Given the description of an element on the screen output the (x, y) to click on. 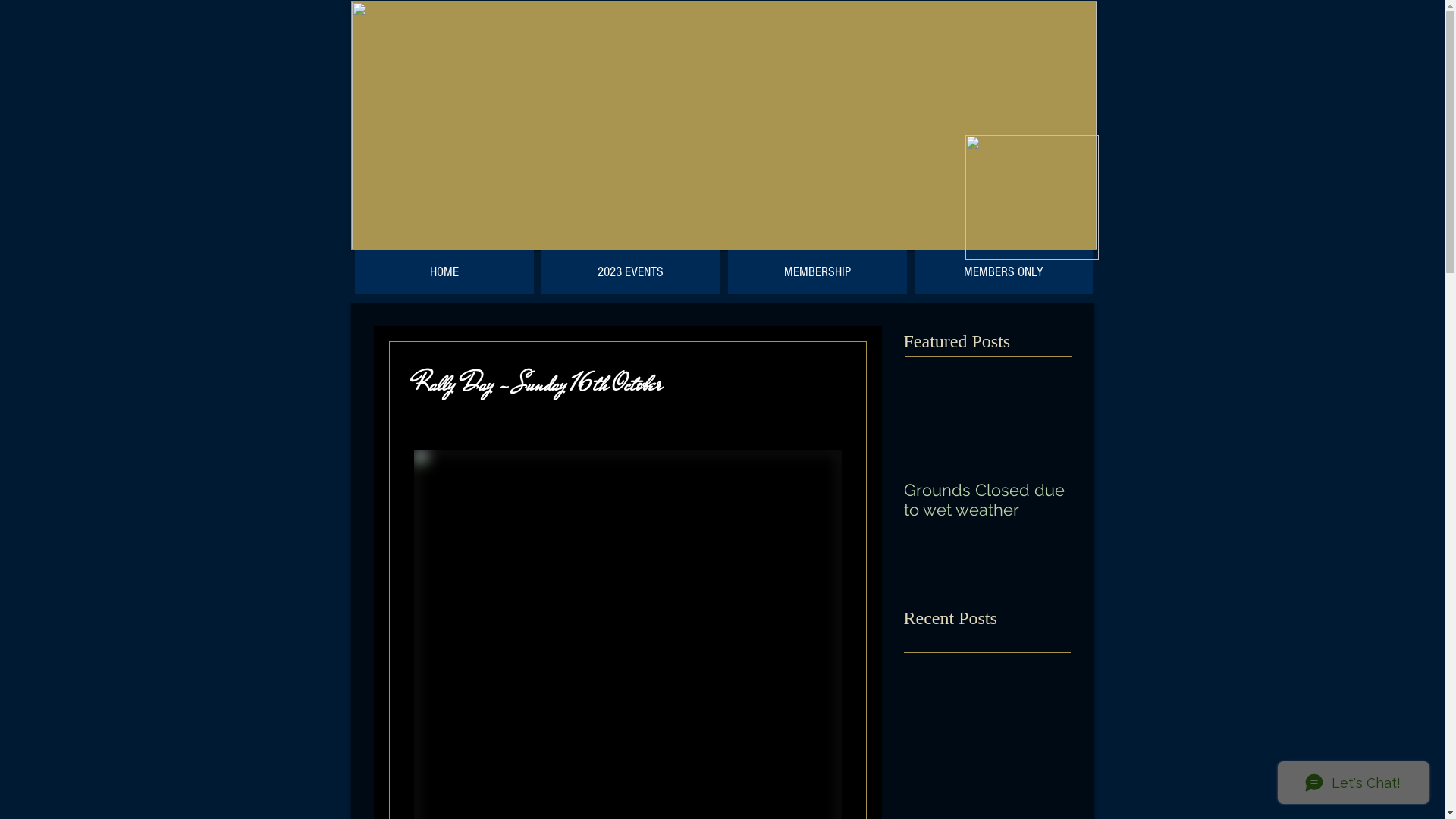
Grounds Closed due to wet weather Element type: text (986, 499)
MEMBERSHIP Element type: text (817, 272)
MEMBERS ONLY Element type: text (1003, 272)
HOME Element type: text (443, 272)
